Given the description of an element on the screen output the (x, y) to click on. 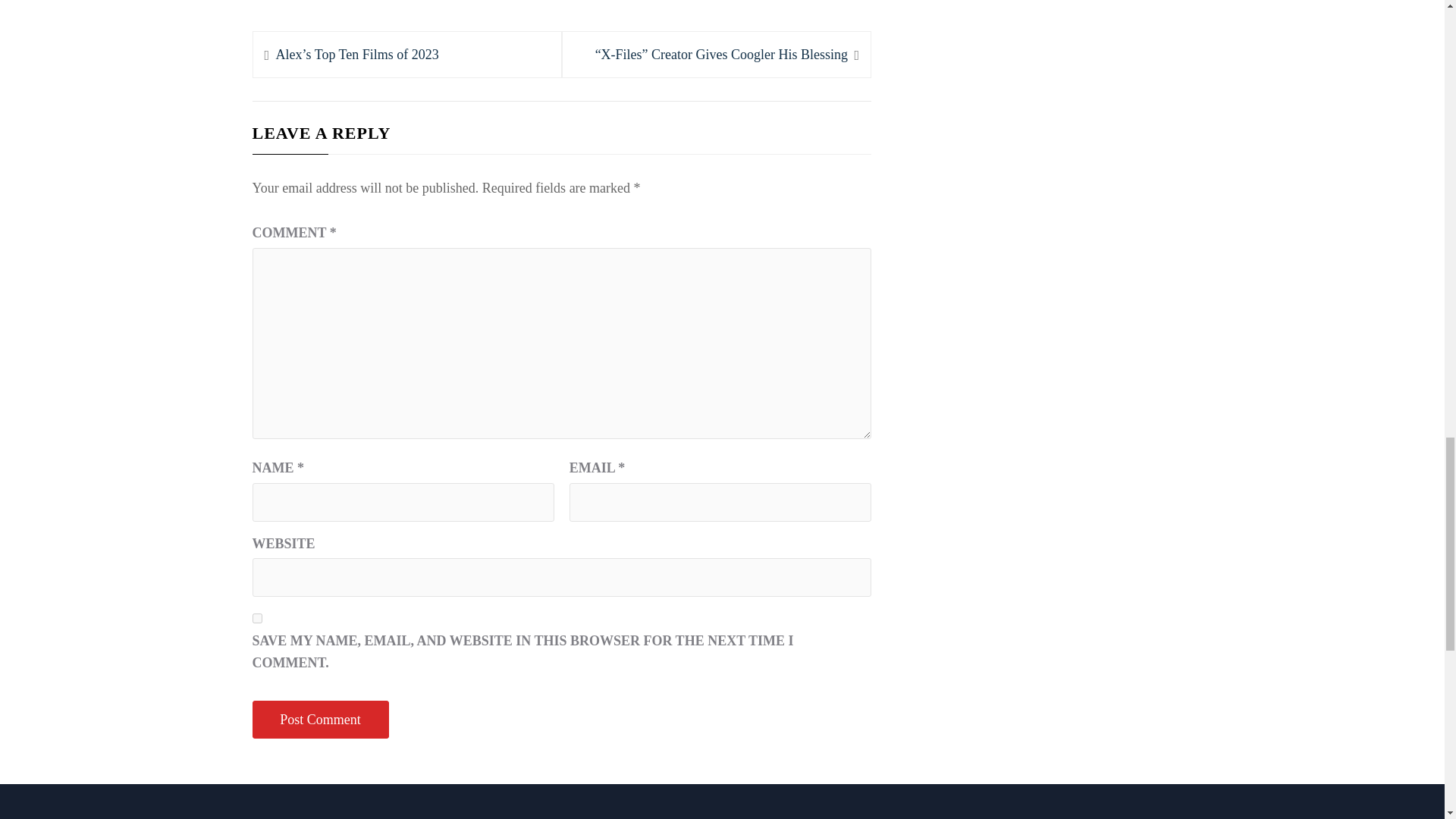
yes (256, 618)
Post Comment (319, 720)
Post Comment (319, 720)
